Given the description of an element on the screen output the (x, y) to click on. 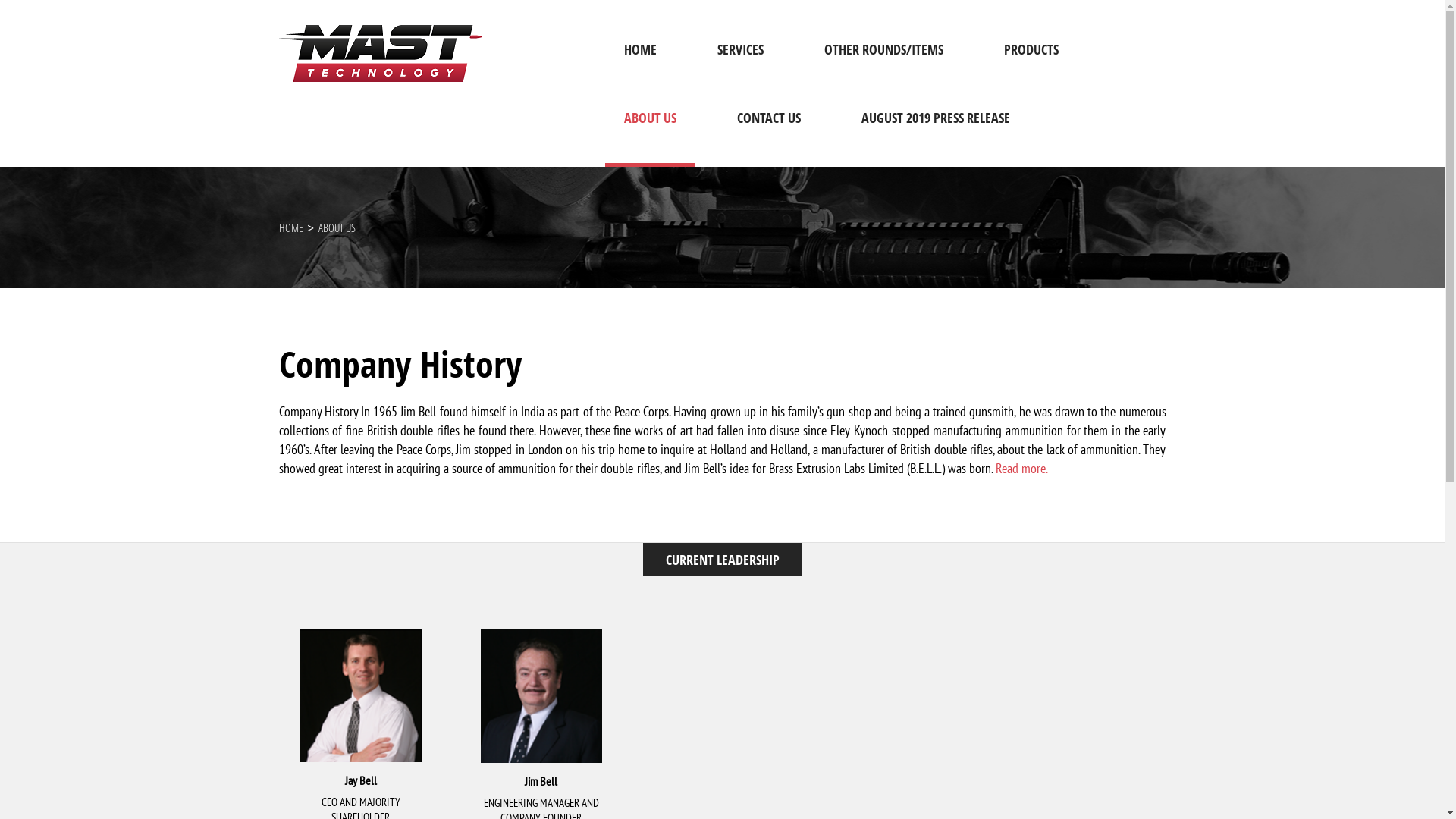
CURRENT LEADERSHIP Element type: text (722, 559)
AUGUST 2019 PRESS RELEASE Element type: text (934, 132)
PRODUCTS Element type: text (1030, 64)
HOME Element type: text (291, 227)
CONTACT US Element type: text (768, 132)
SERVICES Element type: text (739, 64)
OTHER ROUNDS/ITEMS Element type: text (883, 64)
HOME Element type: text (640, 64)
ABOUT US Element type: text (336, 227)
Read more. Element type: text (1020, 467)
ABOUT US Element type: text (650, 132)
